Given the description of an element on the screen output the (x, y) to click on. 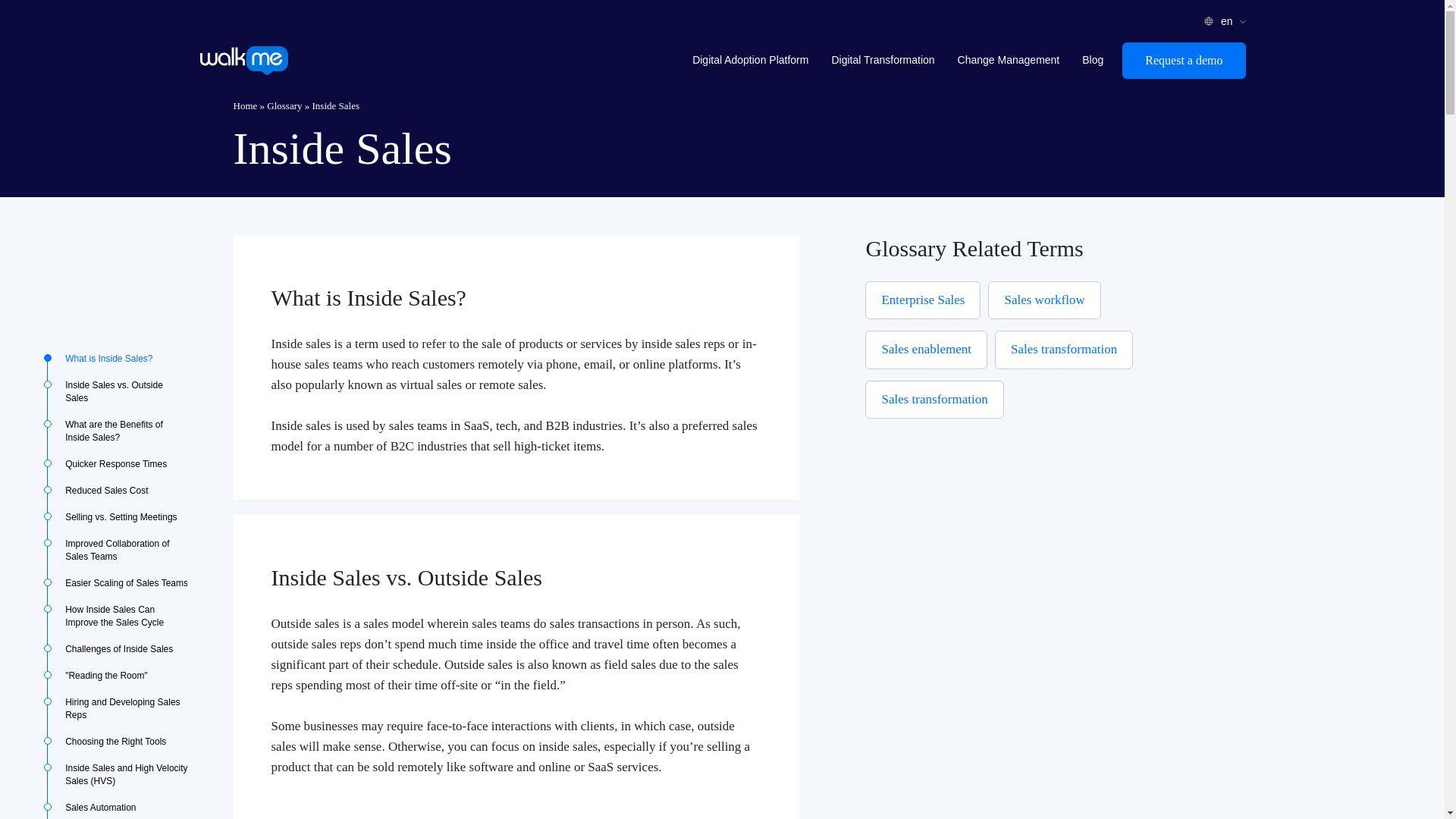
Glossary (283, 105)
Digital Adoption Platform (750, 60)
Digital Transformation (881, 60)
Blog (1092, 60)
Home (244, 105)
en (1228, 20)
Request a demo (1183, 60)
Change Management (1008, 60)
